Given the description of an element on the screen output the (x, y) to click on. 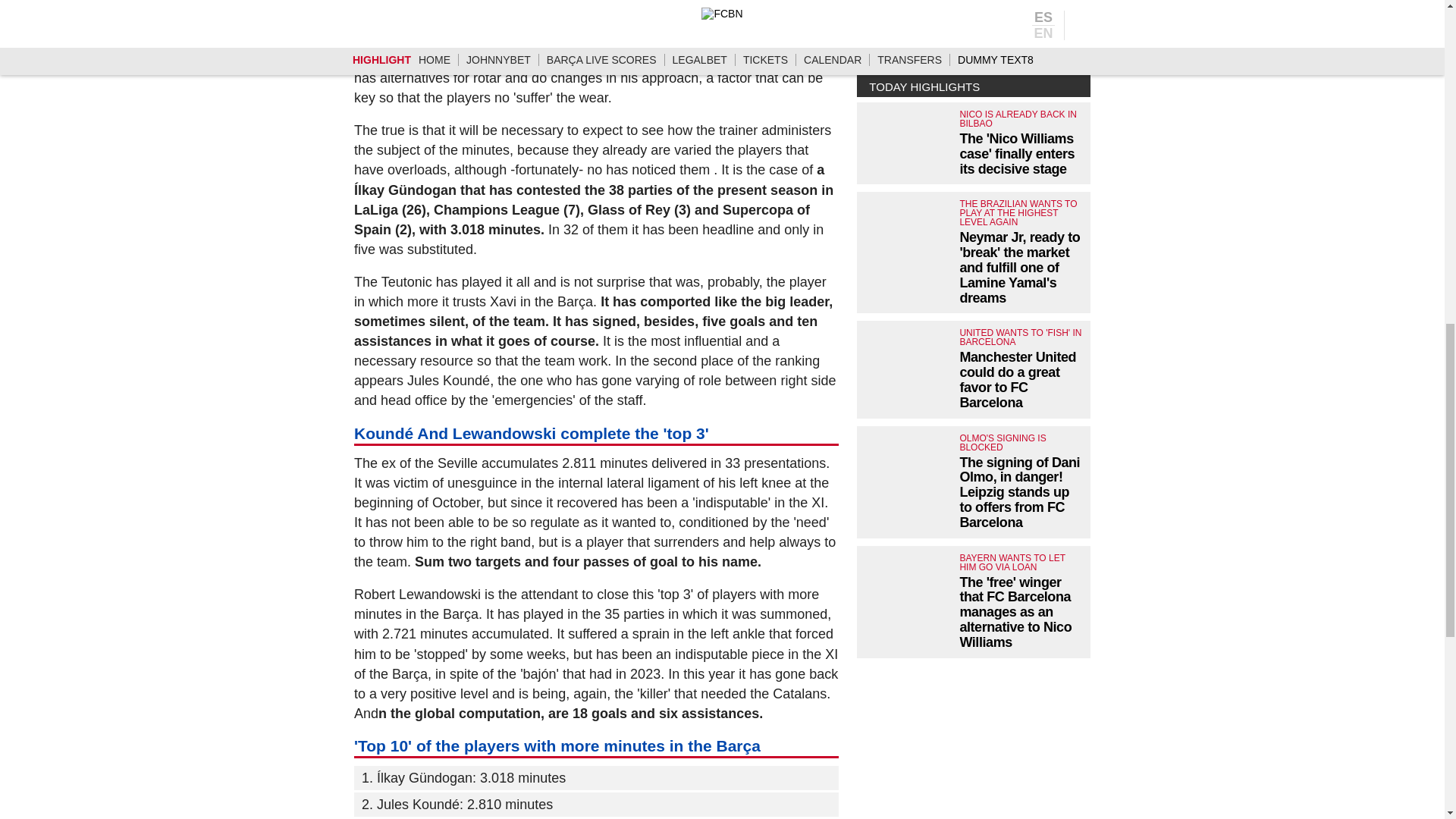
FC Barcelona (770, 3)
